Given the description of an element on the screen output the (x, y) to click on. 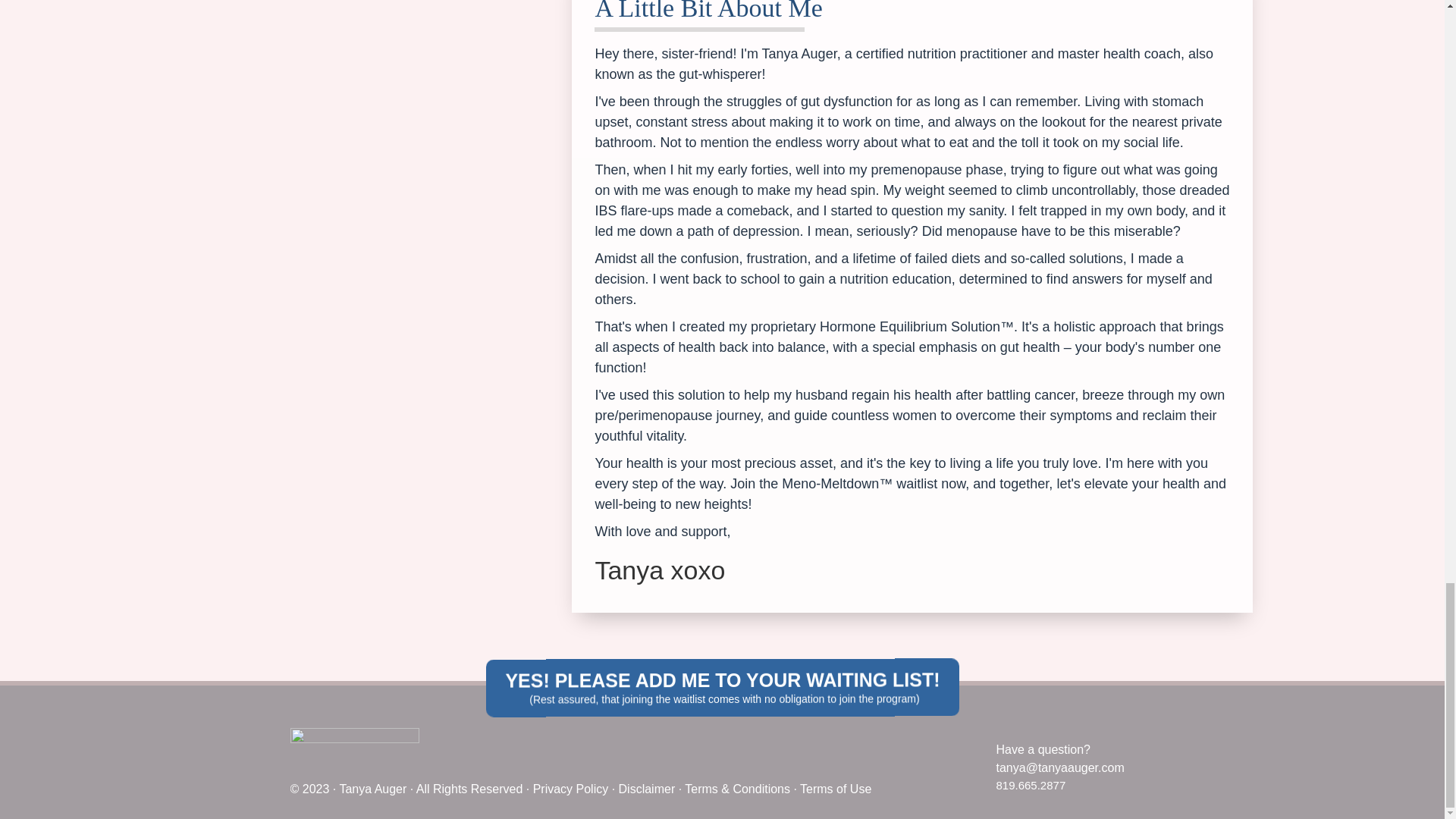
Privacy Policy (570, 788)
Terms of Use (834, 788)
Disclaimer (646, 788)
The Gut Whisperer (354, 750)
